Given the description of an element on the screen output the (x, y) to click on. 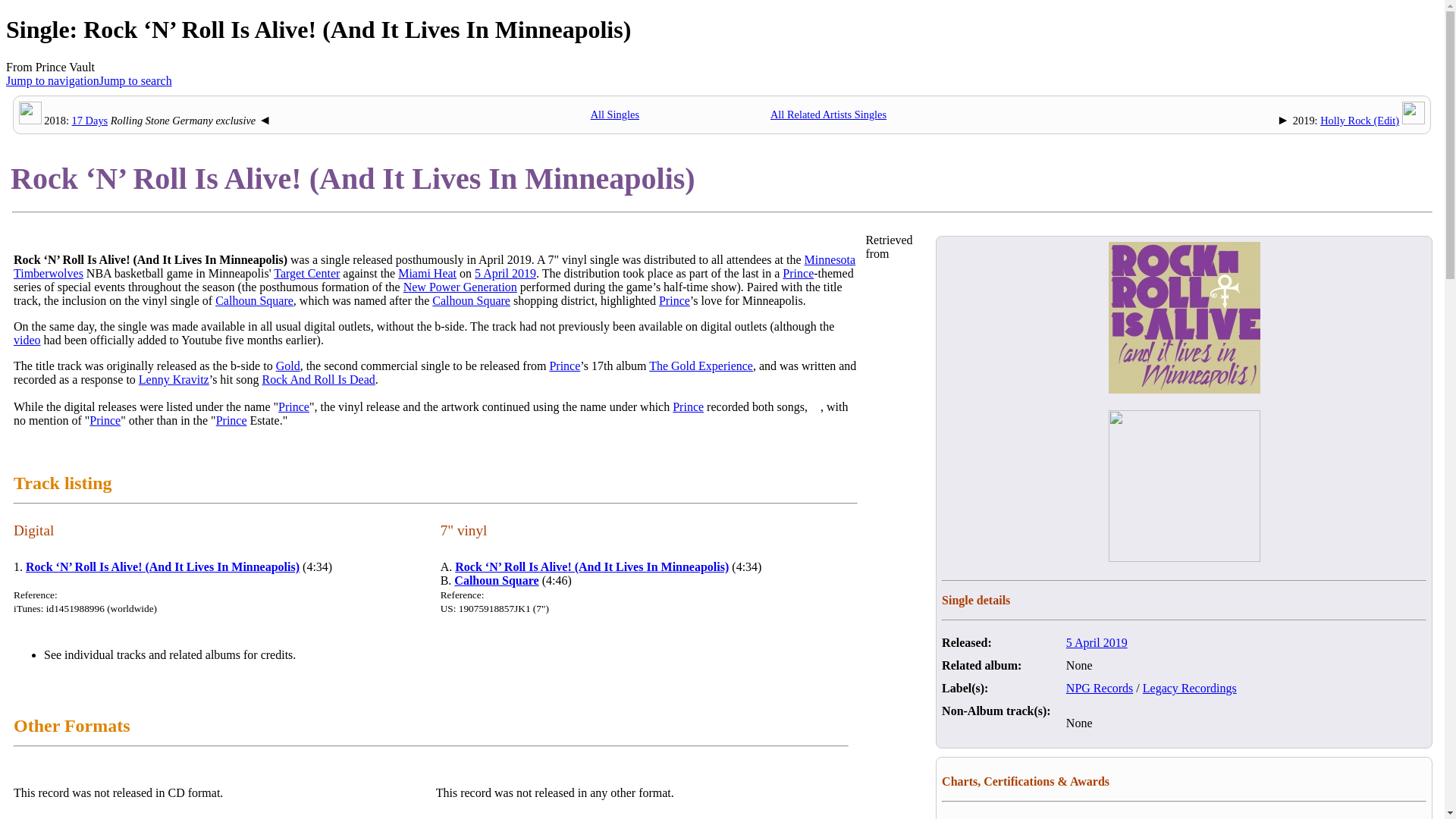
Single: 17 Days (89, 120)
Prince (674, 300)
Legacy Recordings (1189, 687)
Lenny Kravitz (173, 379)
Rock And Roll Is Dead (318, 379)
All Related Artists Singles (828, 114)
Prince (563, 365)
Singles: Related Artists (828, 114)
Prince (674, 300)
Jump to search (135, 80)
5 April 2019 (504, 273)
Prince (687, 406)
Calhoun Square (254, 300)
Prince (798, 273)
Minnesota Timberwolves (434, 266)
